Given the description of an element on the screen output the (x, y) to click on. 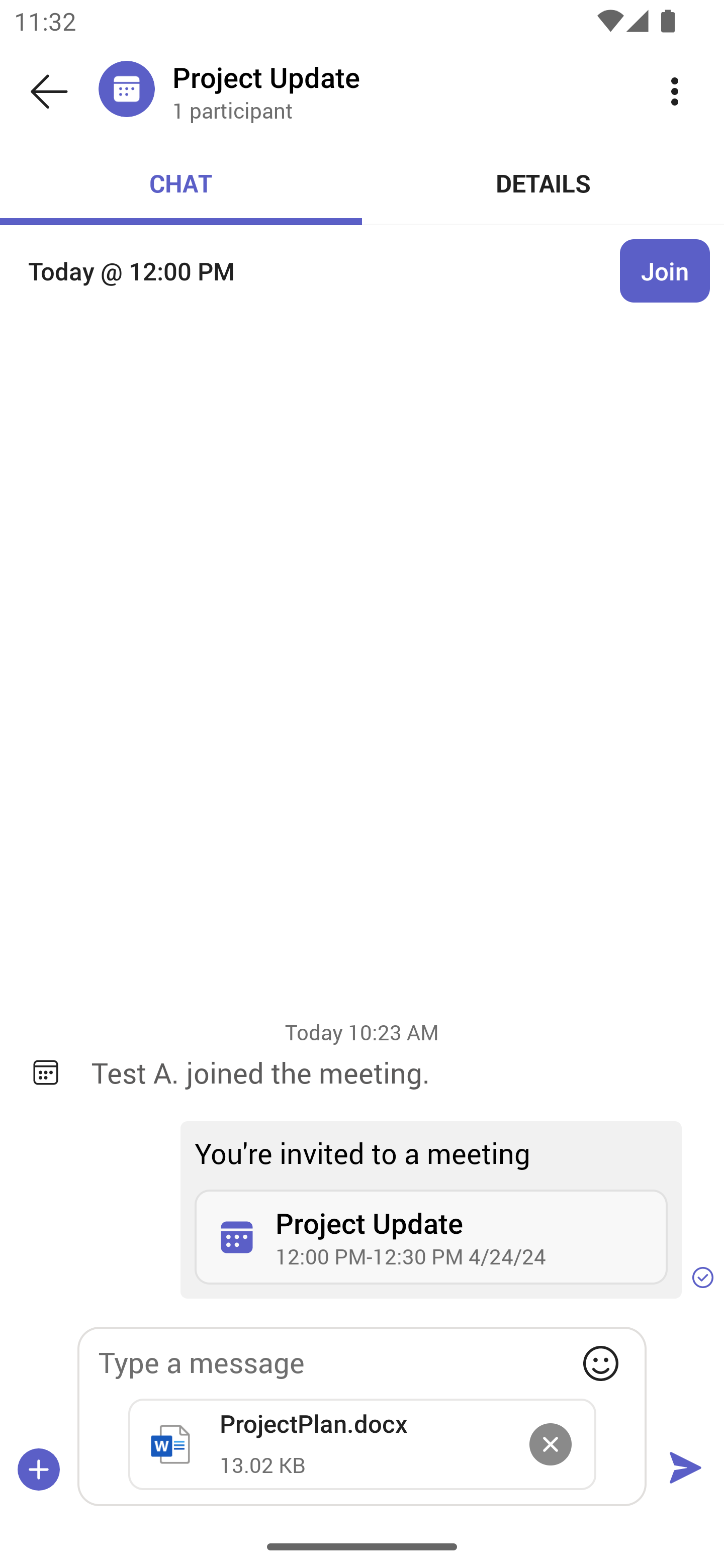
Back (49, 91)
More options (674, 90)
Project Update Project Update 1 participant (398, 90)
Details DETAILS (543, 183)
Join (664, 270)
Test A. joined the meeting. (393, 1072)
Type a message (361, 1362)
GIFs and emojis picker (600, 1363)
ProjectPlan.docx 13.02 KB Remove attachment (362, 1443)
Remove attachment (549, 1444)
Compose options, expanded (38, 1469)
Send message (685, 1469)
